Given the description of an element on the screen output the (x, y) to click on. 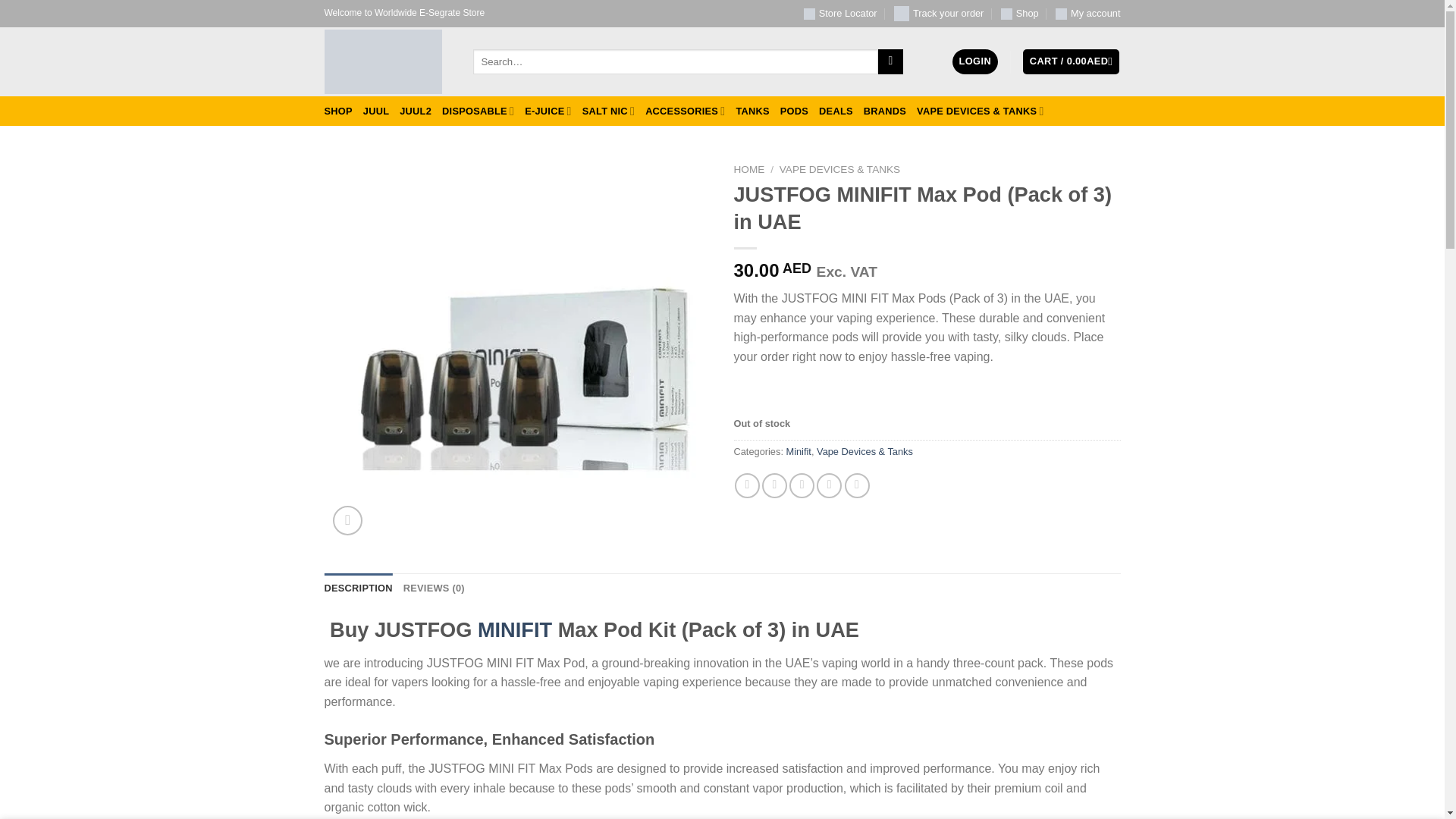
Dubai Vapor Hub - Buy Online Vapes in UAE (386, 61)
Share on Twitter (774, 485)
Cart (1071, 61)
Zoom (347, 520)
Email to a Friend (801, 485)
JUUL (375, 111)
LOGIN (974, 61)
Share on LinkedIn (856, 485)
SHOP (338, 111)
